Given the description of an element on the screen output the (x, y) to click on. 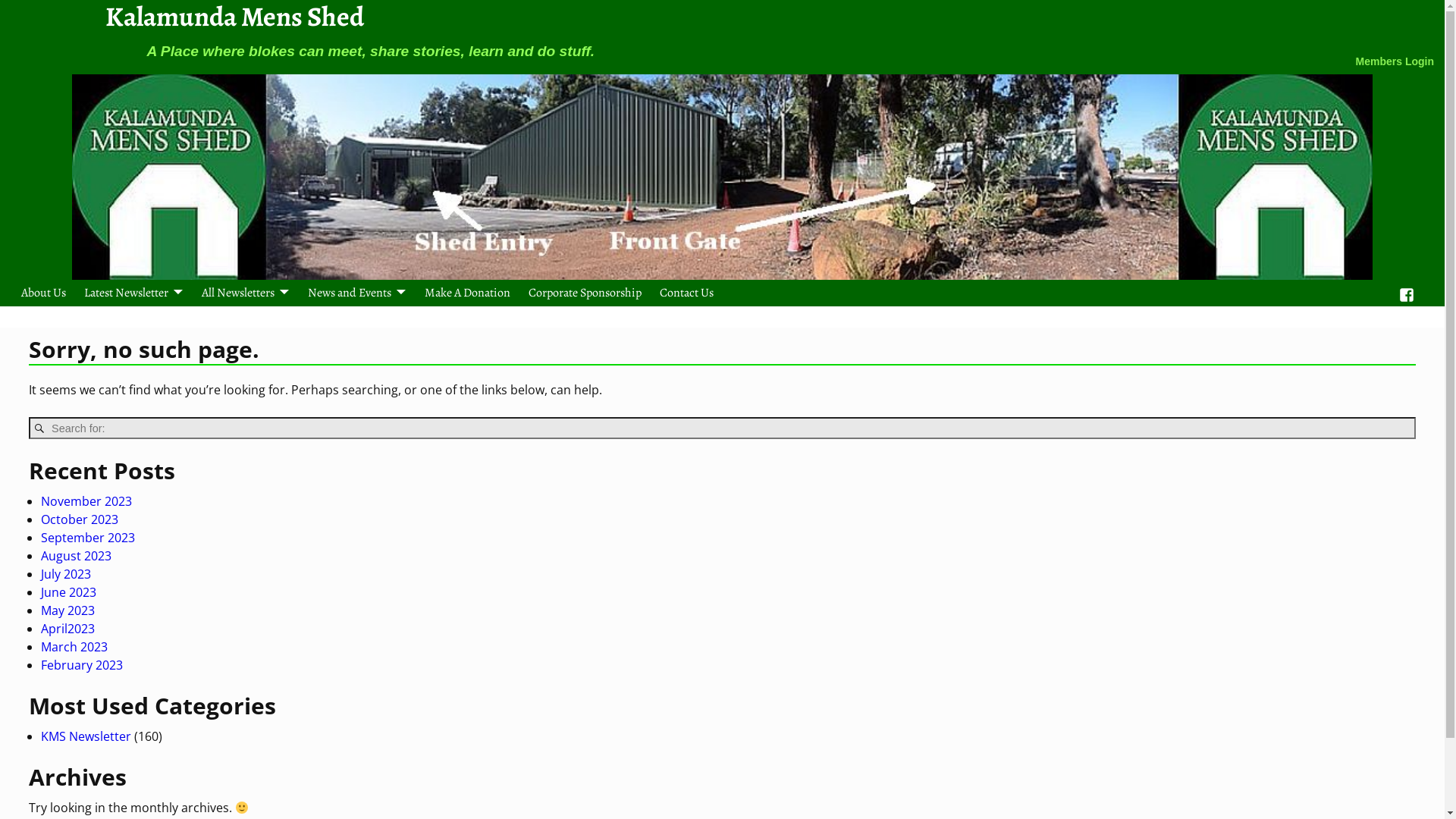
Corporate Sponsorship Element type: text (584, 292)
November 2023 Element type: text (85, 500)
Members Login Element type: text (1394, 61)
About Us Element type: text (43, 292)
October 2023 Element type: text (79, 519)
Latest Newsletter Element type: text (133, 292)
click to goto KMS Facebook page Element type: hover (1406, 293)
May 2023 Element type: text (67, 610)
News and Events Element type: text (356, 292)
August 2023 Element type: text (75, 555)
KMS Newsletter Element type: text (85, 736)
Make A Donation Element type: text (467, 292)
September 2023 Element type: text (87, 537)
March 2023 Element type: text (73, 646)
Contact Us Element type: text (686, 292)
July 2023 Element type: text (65, 573)
June 2023 Element type: text (68, 591)
February 2023 Element type: text (81, 664)
April2023 Element type: text (67, 628)
All Newsletters Element type: text (245, 292)
